Given the description of an element on the screen output the (x, y) to click on. 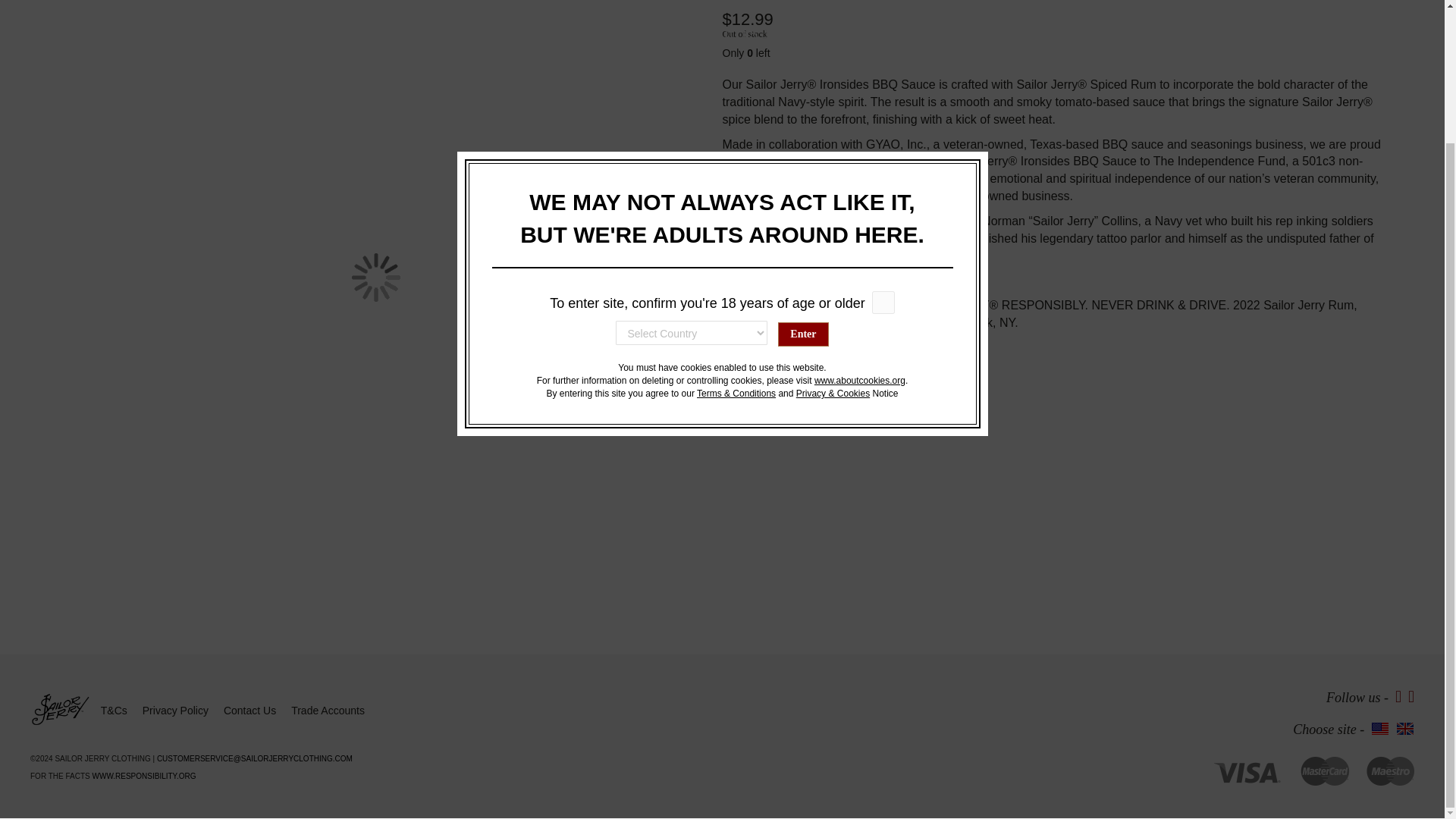
WWW.RESPONSIBILITY.ORG (144, 776)
on (883, 138)
Trade Accounts (328, 710)
www.aboutcookies.org (859, 217)
Enter (802, 170)
Privacy Policy (175, 710)
Contact Us (250, 710)
Only 0 left (1053, 53)
Availability (744, 33)
